Given the description of an element on the screen output the (x, y) to click on. 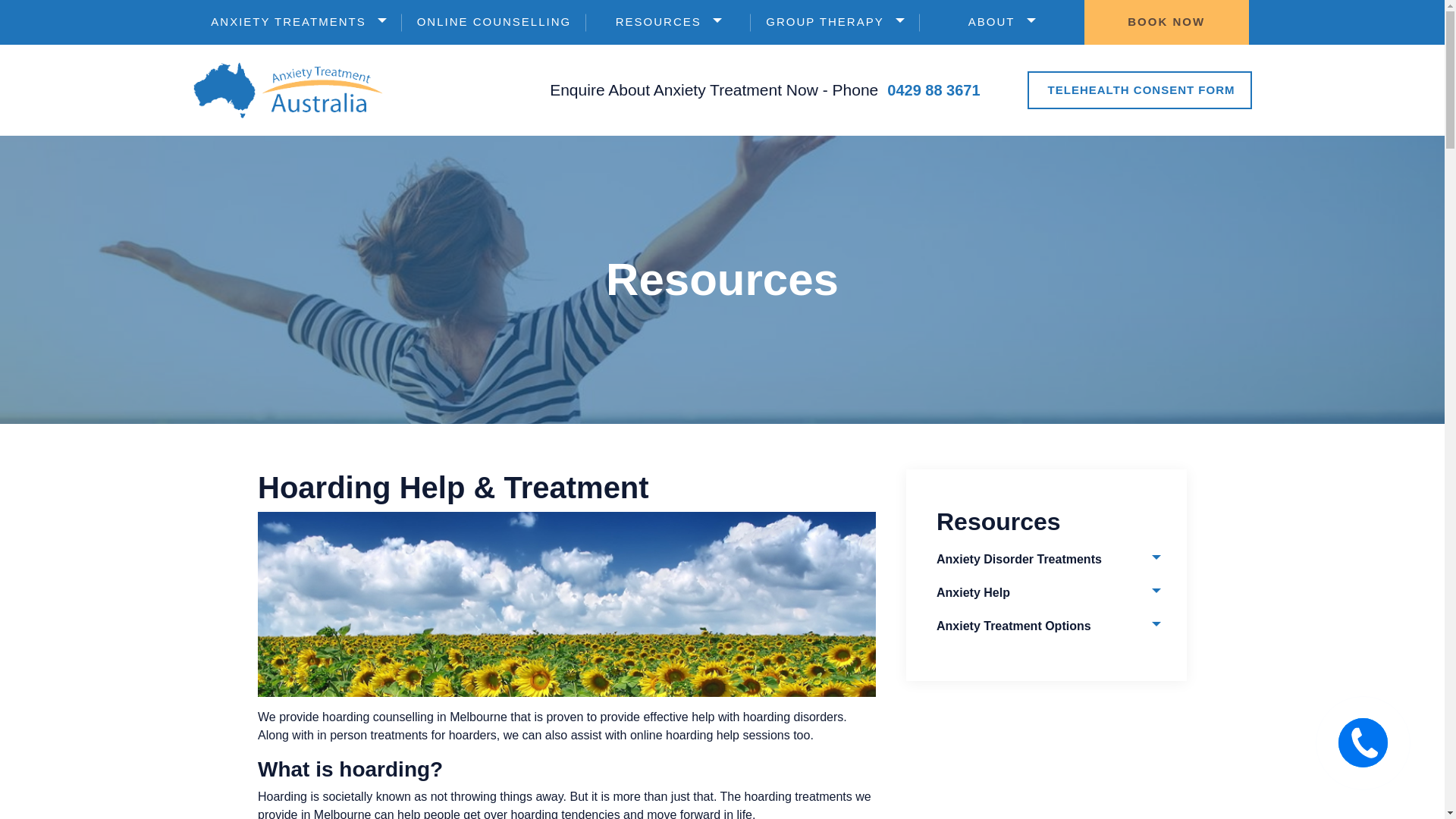
ONLINE COUNSELLING (493, 22)
Resources (668, 22)
Online Counselling (493, 22)
RESOURCES (668, 22)
Anxiety Treatments (298, 22)
ANXIETY TREATMENTS (298, 22)
